Given the description of an element on the screen output the (x, y) to click on. 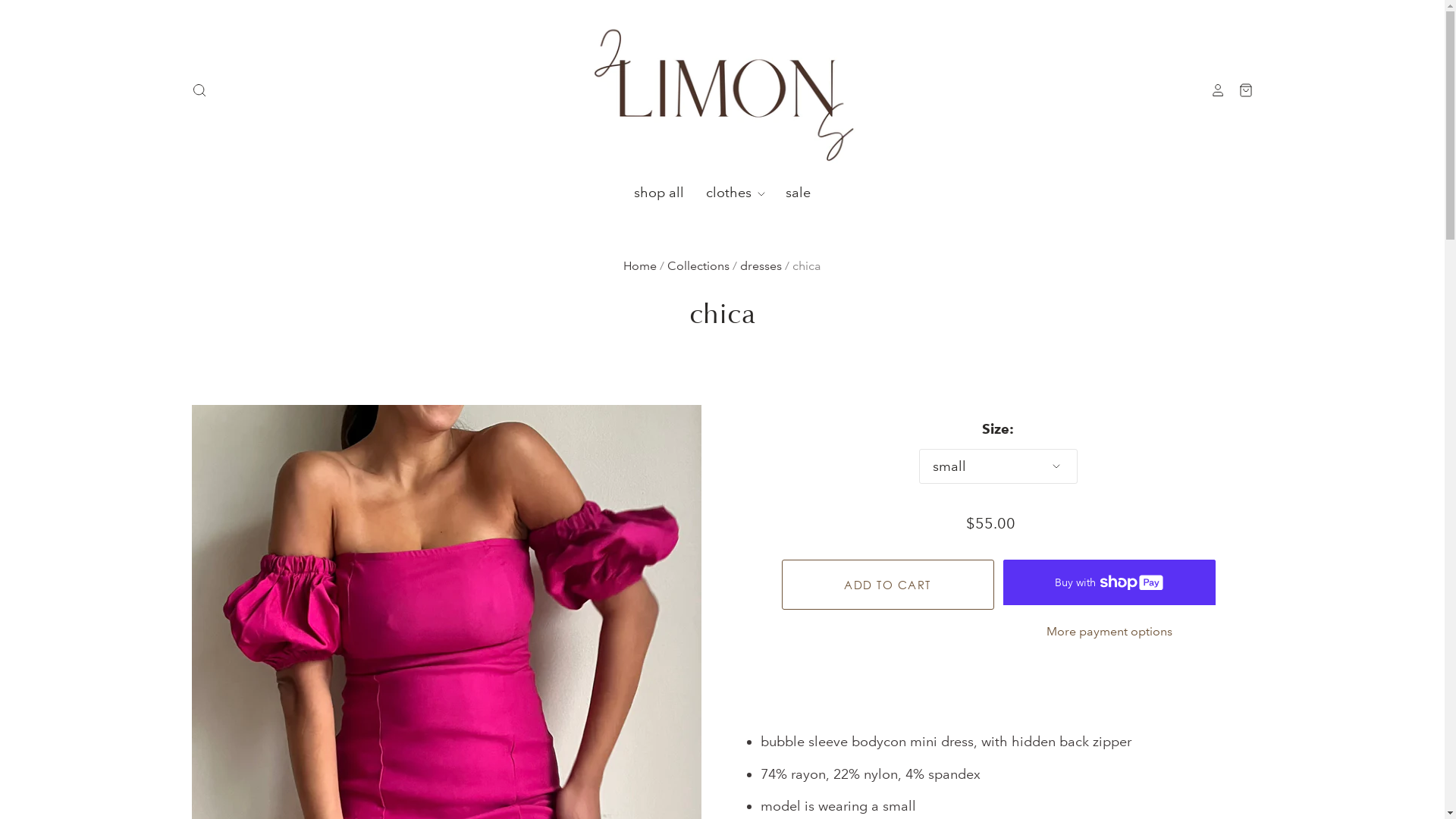
More payment options Element type: text (1108, 631)
shop all Element type: text (658, 193)
dresses Element type: text (760, 265)
Add to cart Element type: text (887, 584)
clothes Element type: text (726, 193)
sale Element type: text (787, 193)
Collections Element type: text (698, 265)
Home Element type: text (639, 265)
